Given the description of an element on the screen output the (x, y) to click on. 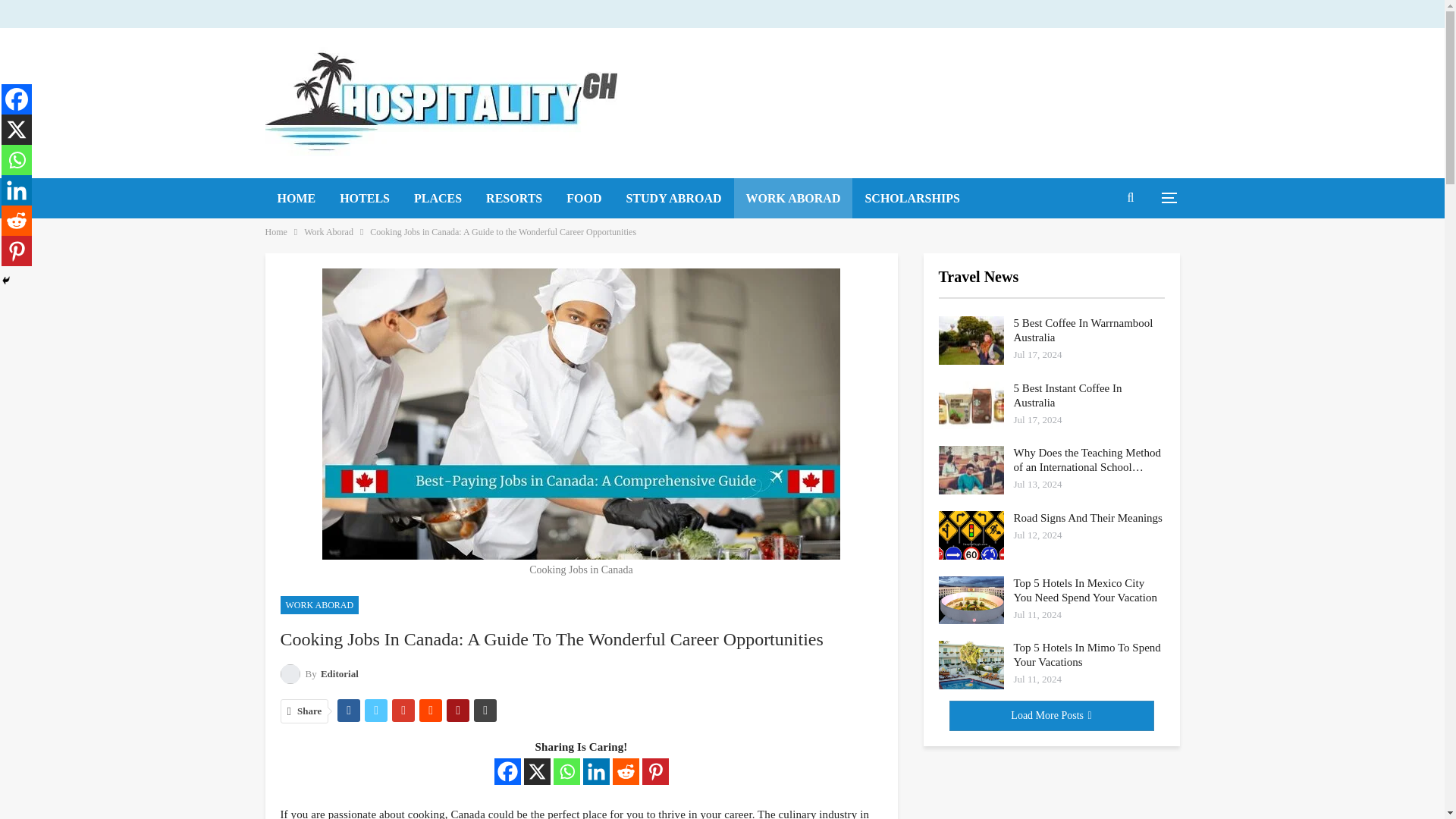
Home (275, 231)
FOOD (583, 198)
WORK ABORAD (320, 605)
Browse Author Articles (319, 673)
Linkedin (595, 771)
Whatsapp (566, 771)
By Editorial (319, 673)
PLACES (437, 198)
STUDY ABROAD (672, 198)
RESORTS (514, 198)
Facebook (16, 99)
SCHOLARSHIPS (911, 198)
Facebook (508, 771)
HOME (296, 198)
Reddit (625, 771)
